Given the description of an element on the screen output the (x, y) to click on. 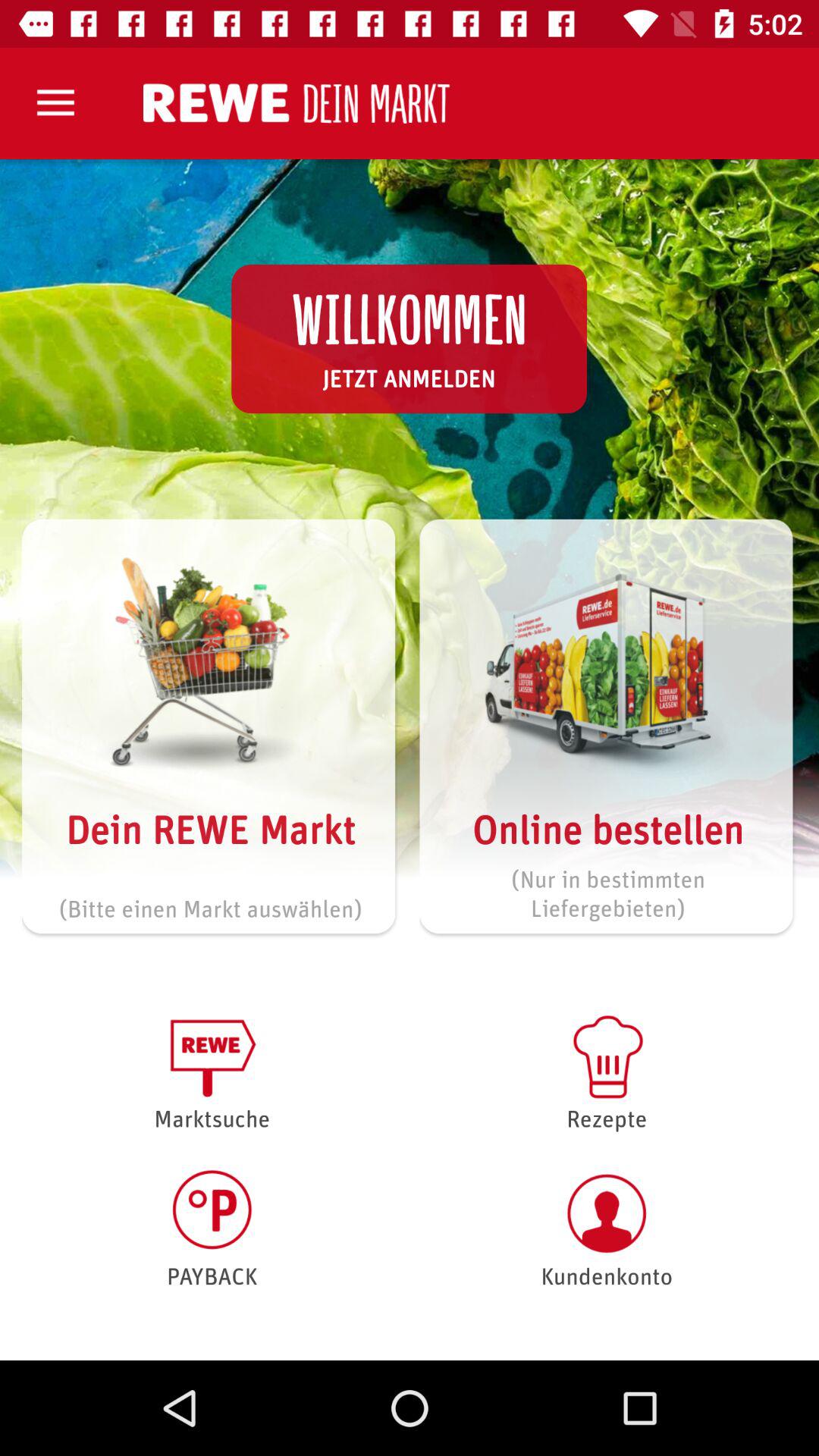
turn off item to the left of the rezepte icon (211, 1228)
